Given the description of an element on the screen output the (x, y) to click on. 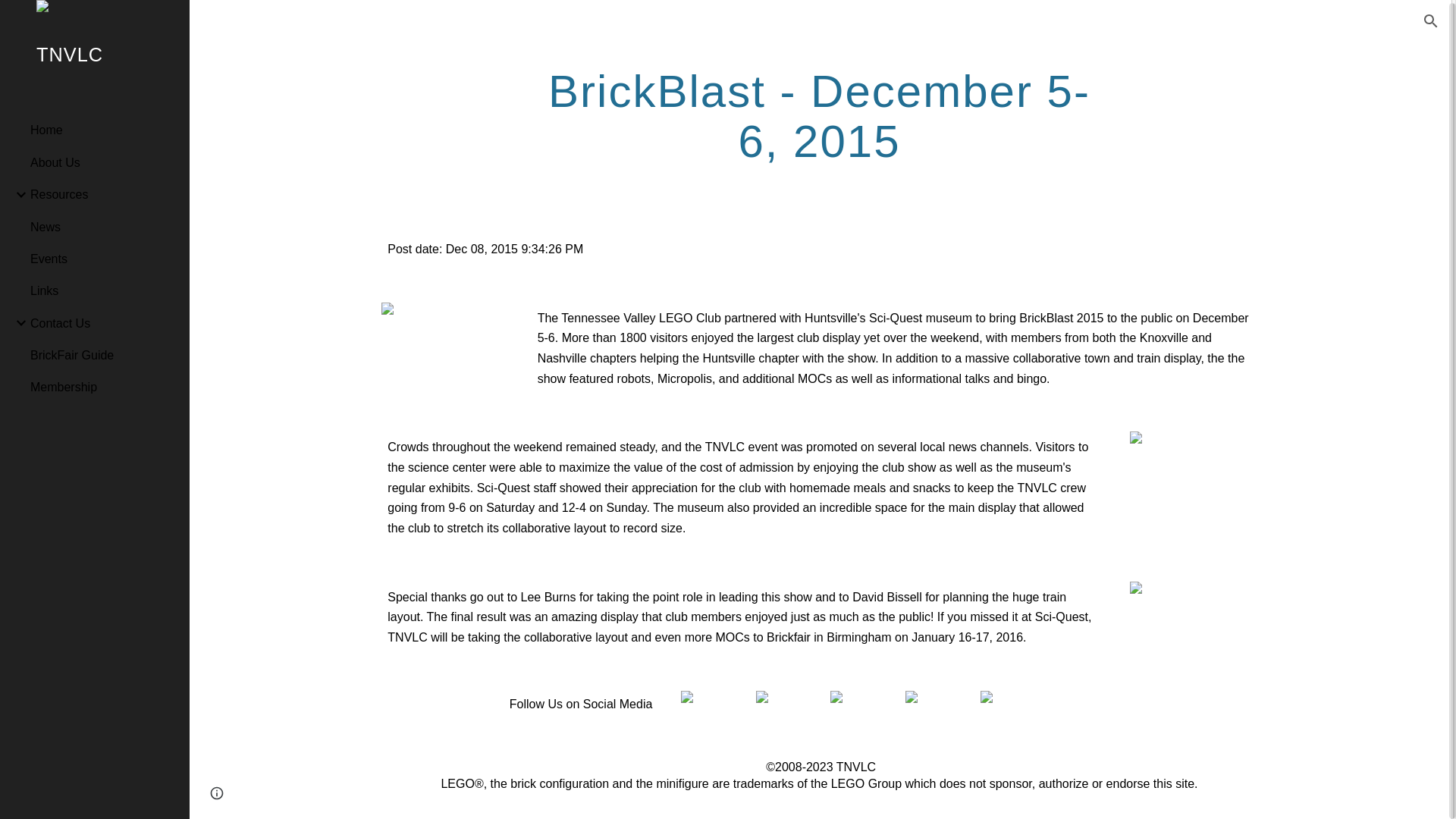
TNVLC (94, 70)
About Us (103, 159)
Home (103, 127)
Resources (103, 192)
